Given the description of an element on the screen output the (x, y) to click on. 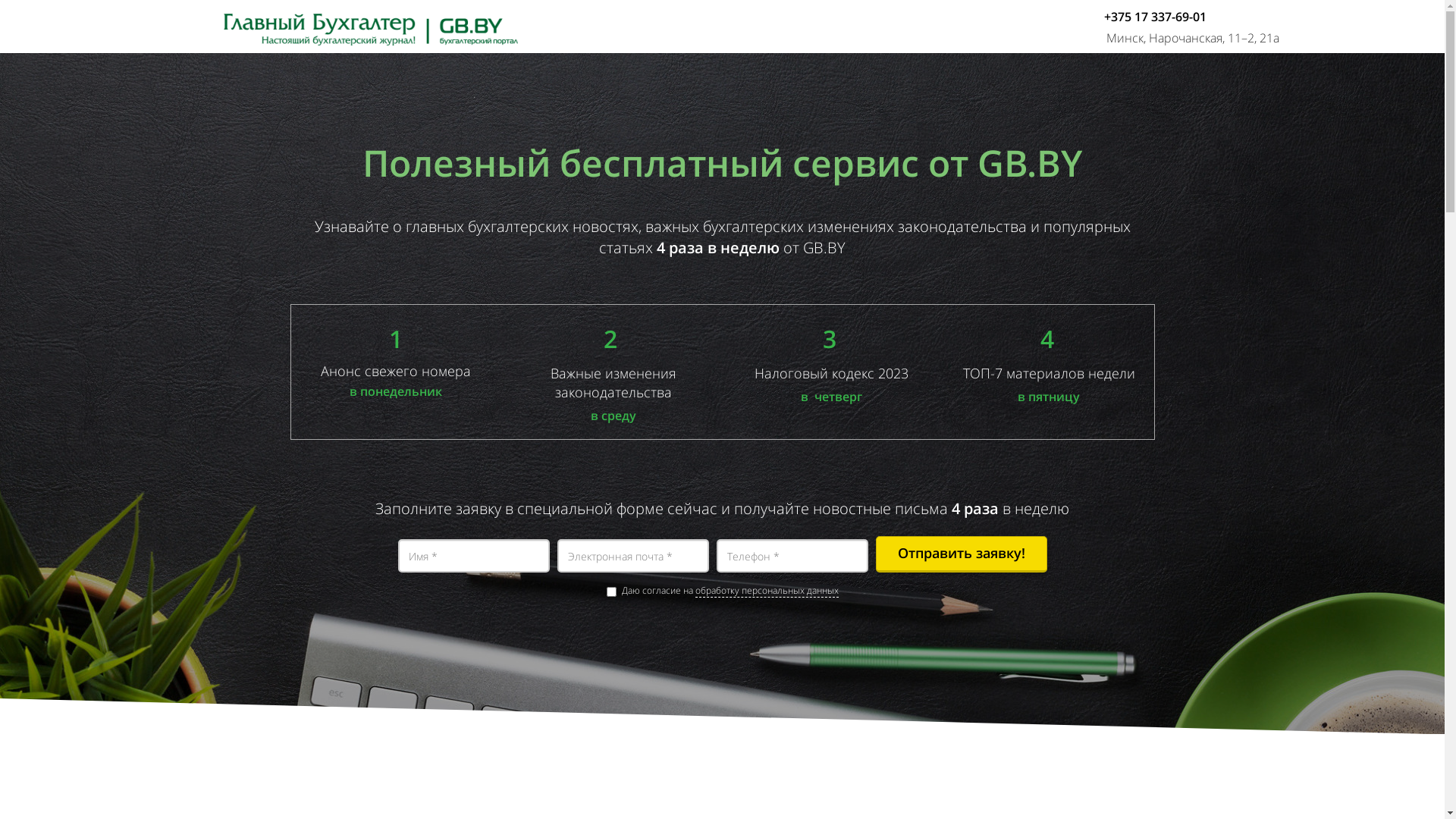
+375 17 337-69-01 Element type: text (1155, 16)
